Given the description of an element on the screen output the (x, y) to click on. 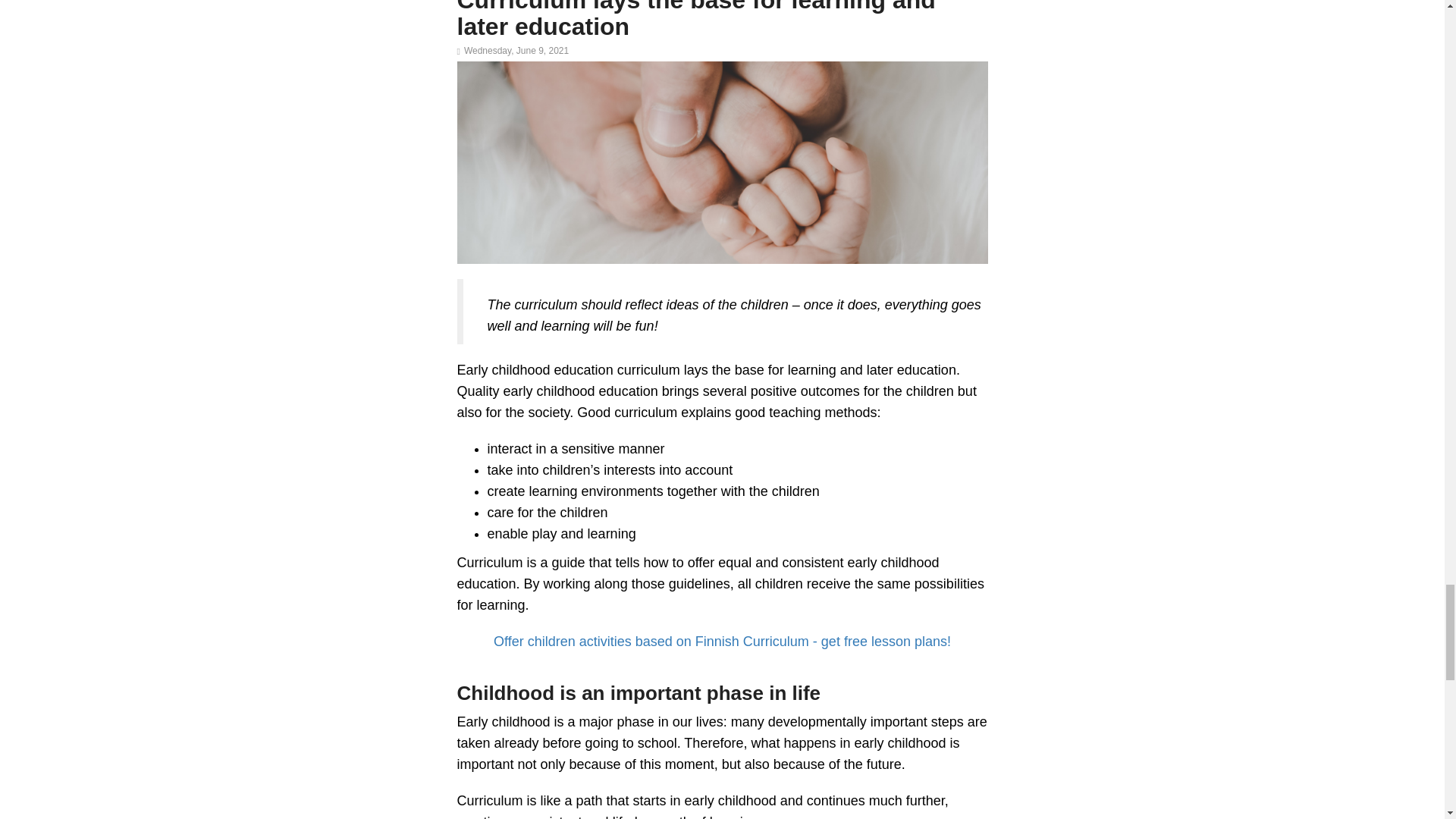
Curriculum lays the base for learning and later education (695, 20)
